Given the description of an element on the screen output the (x, y) to click on. 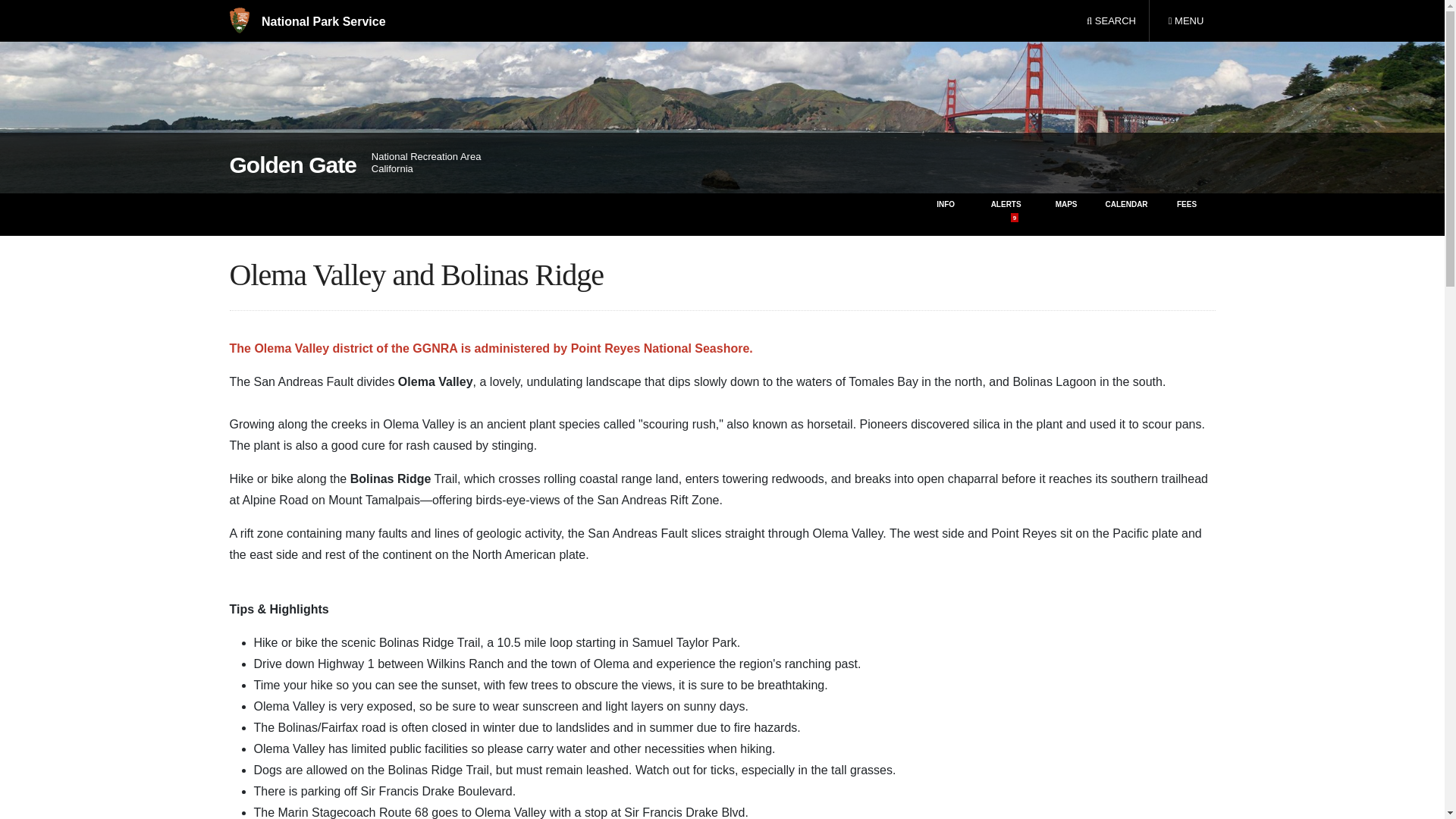
Golden Gate (291, 164)
INFO (945, 214)
SEARCH (1111, 20)
National Park Service (307, 20)
